Given the description of an element on the screen output the (x, y) to click on. 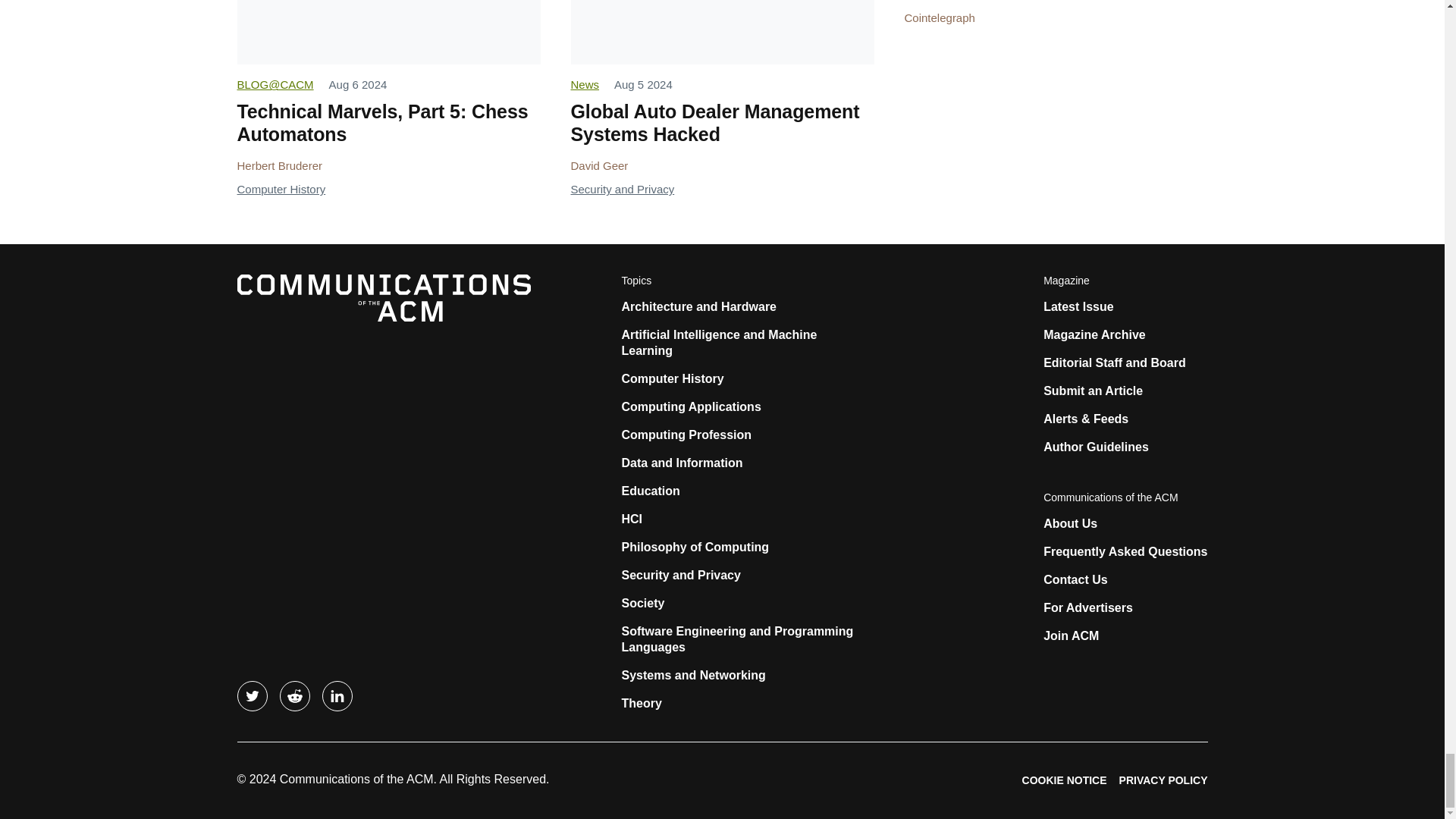
Posts by Cointelegraph (939, 17)
Posts by David Geer (598, 164)
Posts by Herbert Bruderer (278, 164)
